Given the description of an element on the screen output the (x, y) to click on. 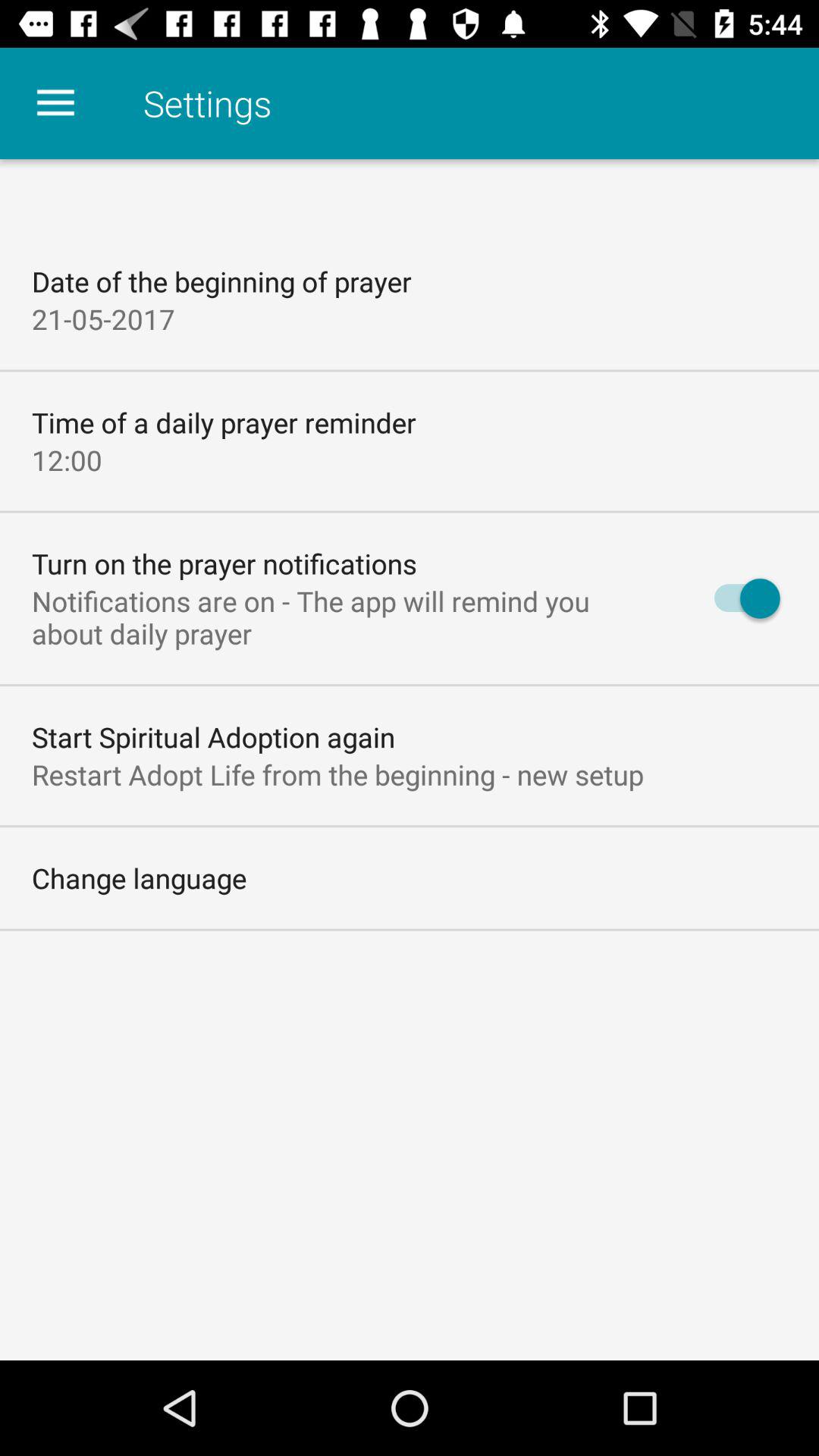
open the icon above date of the (55, 103)
